Given the description of an element on the screen output the (x, y) to click on. 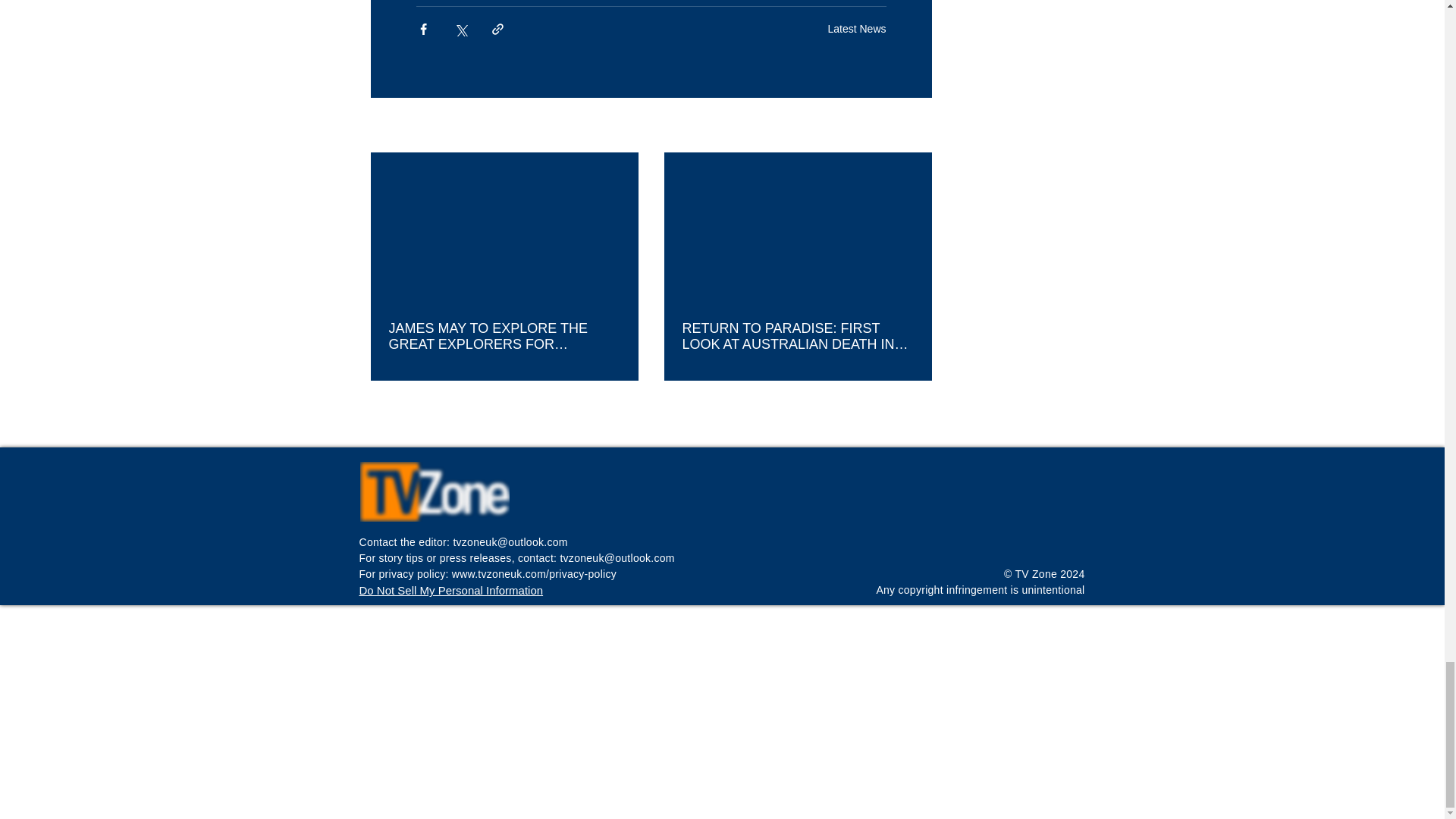
Latest News (856, 28)
See All (914, 126)
